Given the description of an element on the screen output the (x, y) to click on. 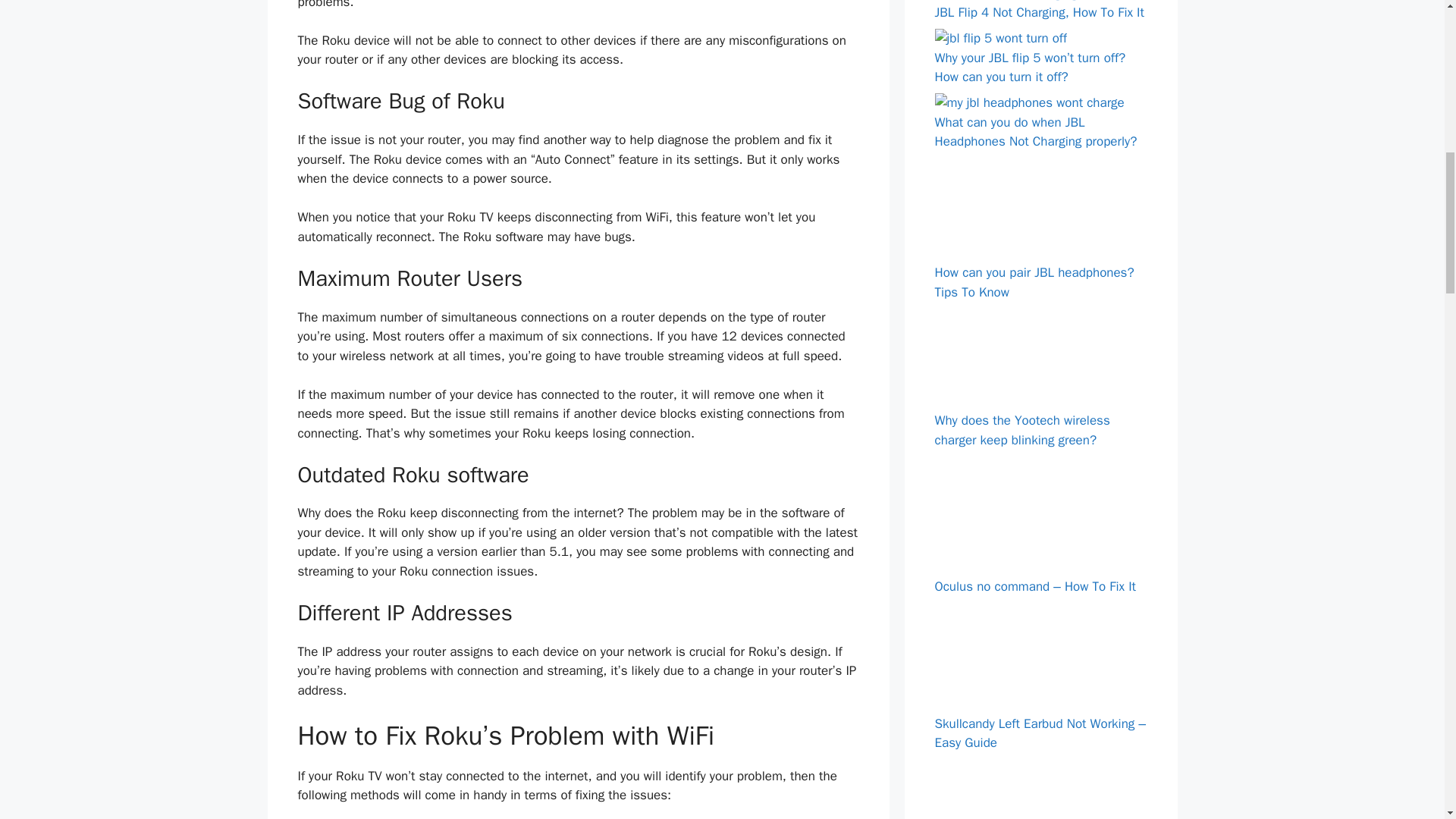
JBL Flip 4 Not Charging, How To Fix It (1038, 12)
What can you do when JBL Headphones Not Charging properly? (1035, 131)
Why does the Yootech wireless charger keep blinking green? (1021, 429)
Why does the Yootech wireless charger keep blinking green? (1040, 401)
JBL Flip 4 Not Charging, How To Fix It (1038, 12)
What can you do when JBL Headphones Not Charging properly? (1029, 102)
How can you pair JBL headphones? Tips To Know (1034, 282)
How can you pair JBL headphones? Tips To Know (1034, 282)
What can you do when JBL Headphones Not Charging properly? (1035, 131)
Why does the Yootech wireless charger keep blinking green? (1021, 429)
